Given the description of an element on the screen output the (x, y) to click on. 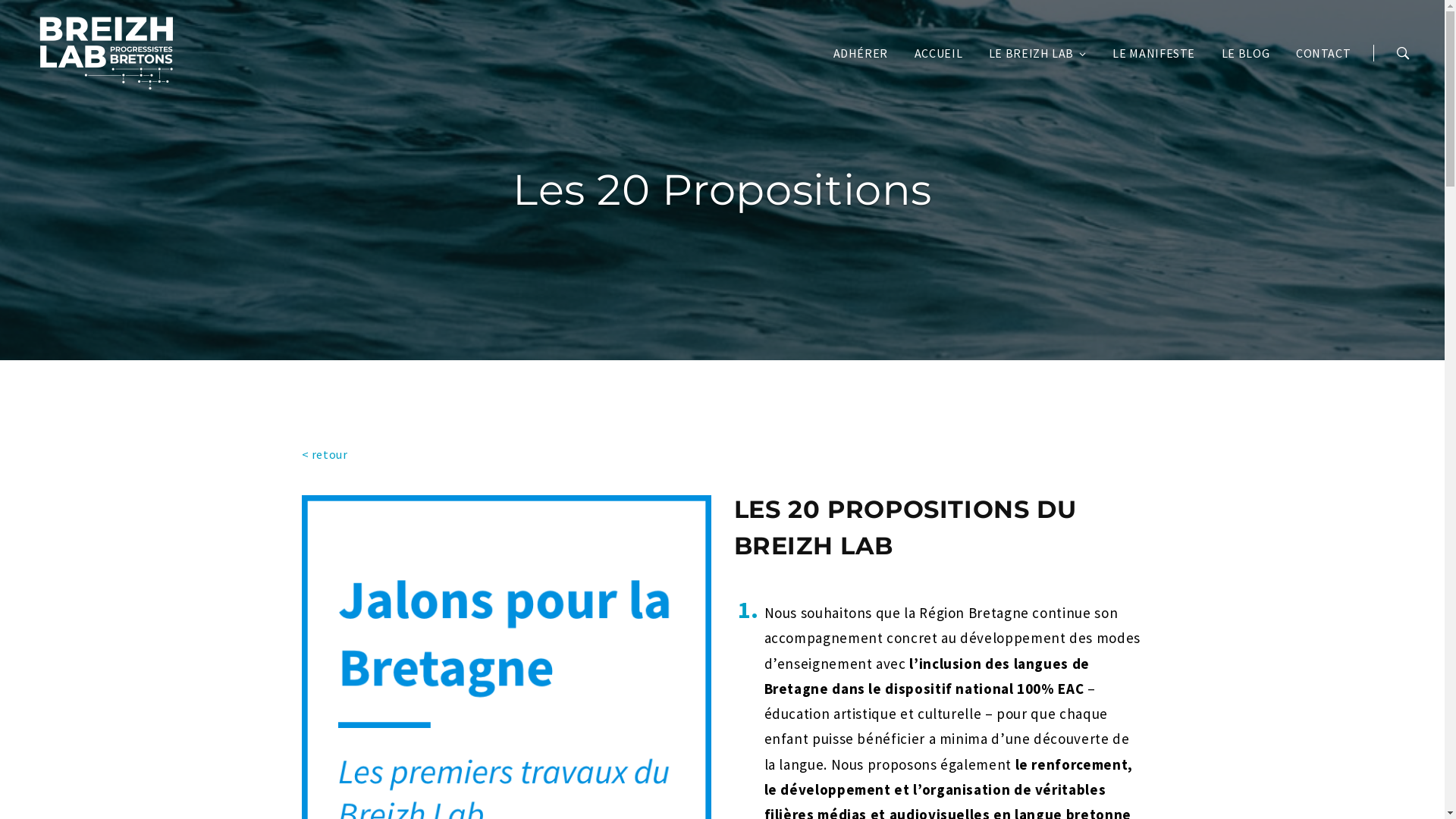
ACCUEIL Element type: text (938, 52)
LE BLOG Element type: text (1245, 52)
LE BREIZH LAB Element type: text (1037, 52)
CONTACT Element type: text (1323, 52)
< retour Element type: text (324, 453)
LE MANIFESTE Element type: text (1153, 52)
